Given the description of an element on the screen output the (x, y) to click on. 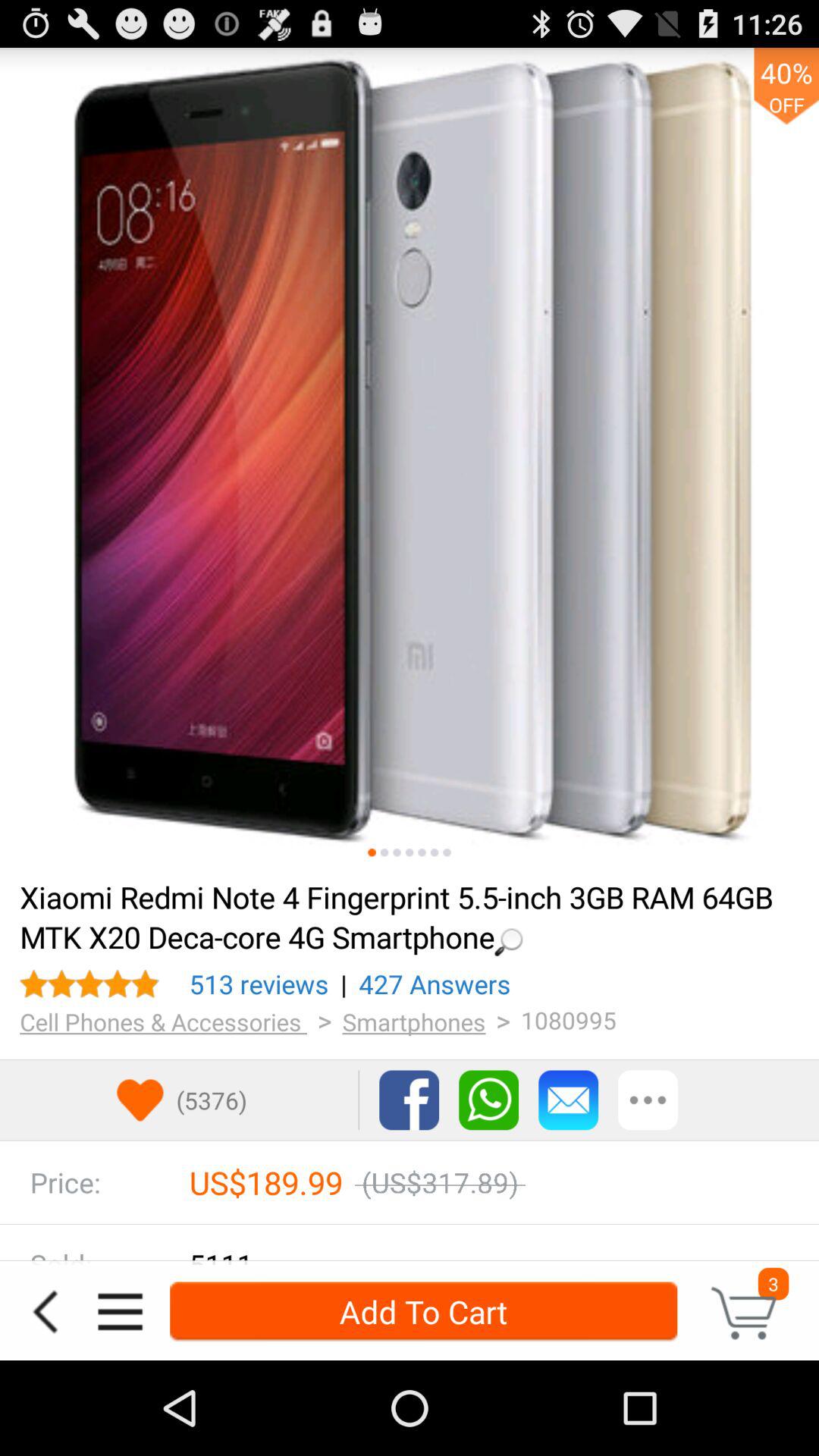
share via facebook (409, 1100)
